Given the description of an element on the screen output the (x, y) to click on. 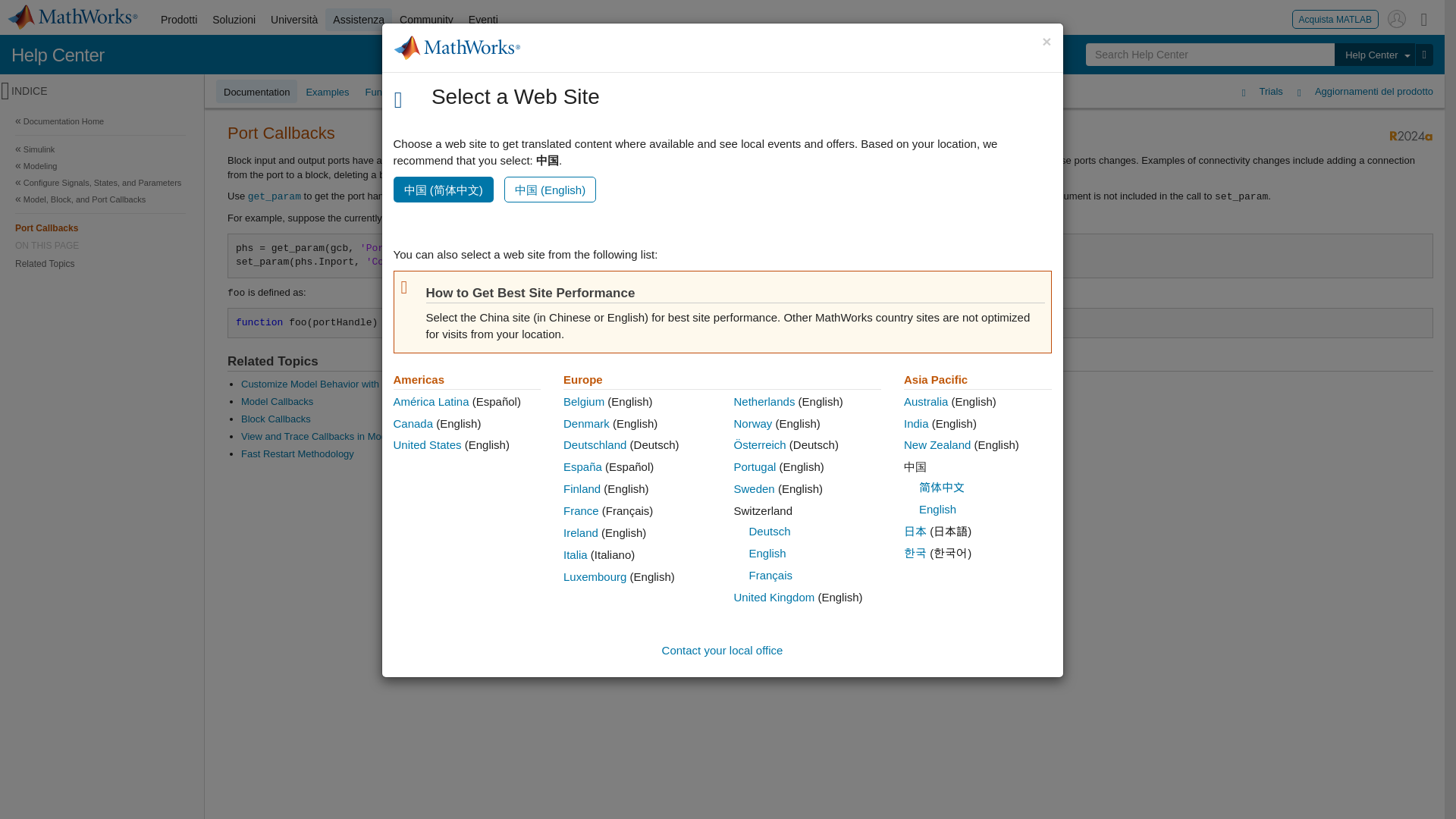
Accedere al proprio MathWorks Account (1396, 18)
Assistenza (357, 19)
Prodotti (178, 19)
Soluzioni (234, 19)
Eventi (100, 245)
Community (483, 19)
Matrix Menu (426, 19)
Acquista MATLAB (1423, 18)
Port Callbacks (1335, 18)
ON THIS PAGE (100, 227)
